Given the description of an element on the screen output the (x, y) to click on. 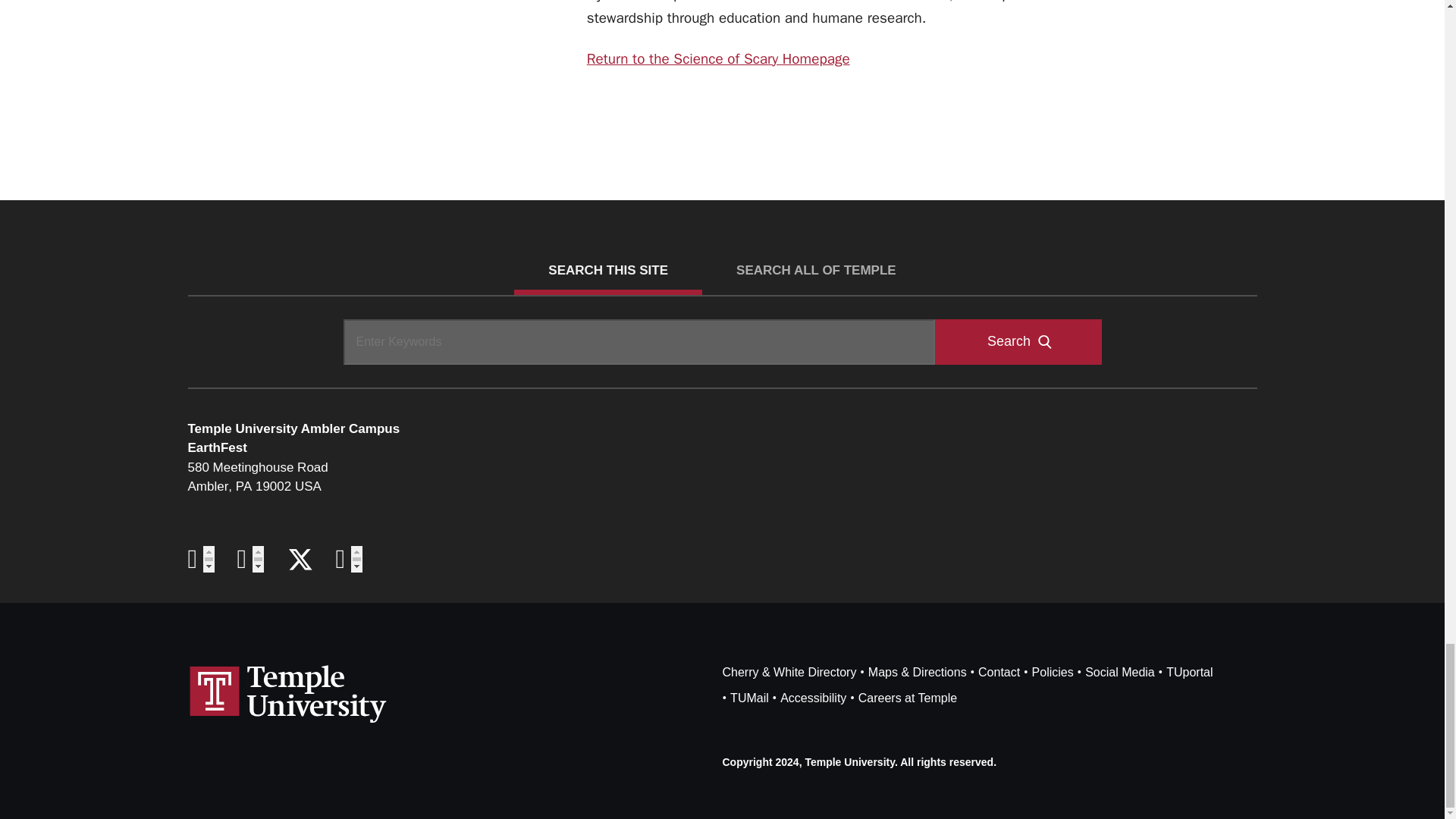
Search (1017, 341)
